Given the description of an element on the screen output the (x, y) to click on. 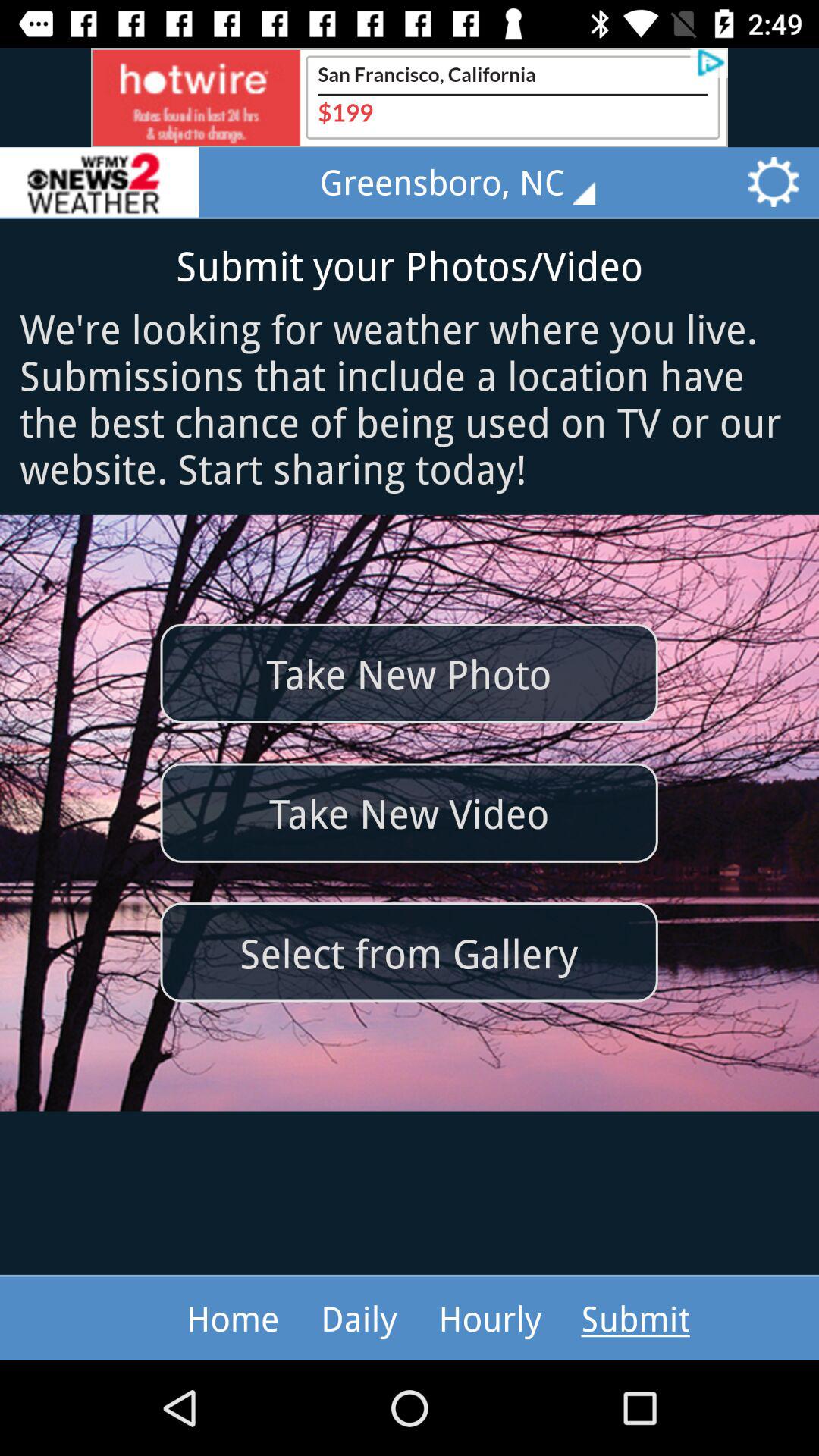
check the weather (99, 182)
